Given the description of an element on the screen output the (x, y) to click on. 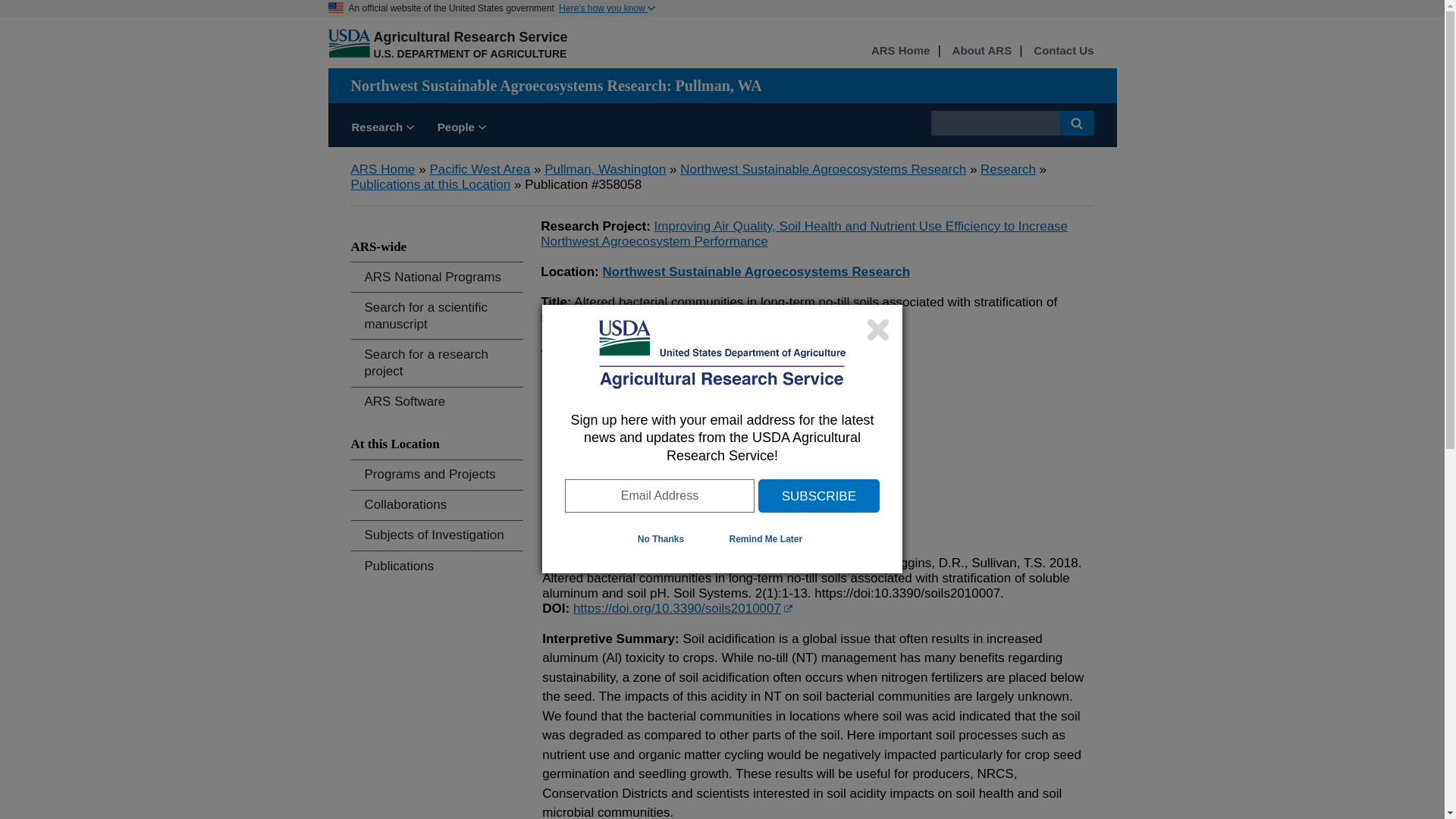
People (461, 128)
Contact Us (1063, 50)
U.S. DEPARTMENT OF AGRICULTURE (469, 53)
ARS Home (900, 50)
Pacific West Area (479, 169)
Programs and Projects (436, 474)
Research (1007, 169)
Northwest Sustainable Agroecosystems Research (756, 271)
Publications (436, 565)
